Given the description of an element on the screen output the (x, y) to click on. 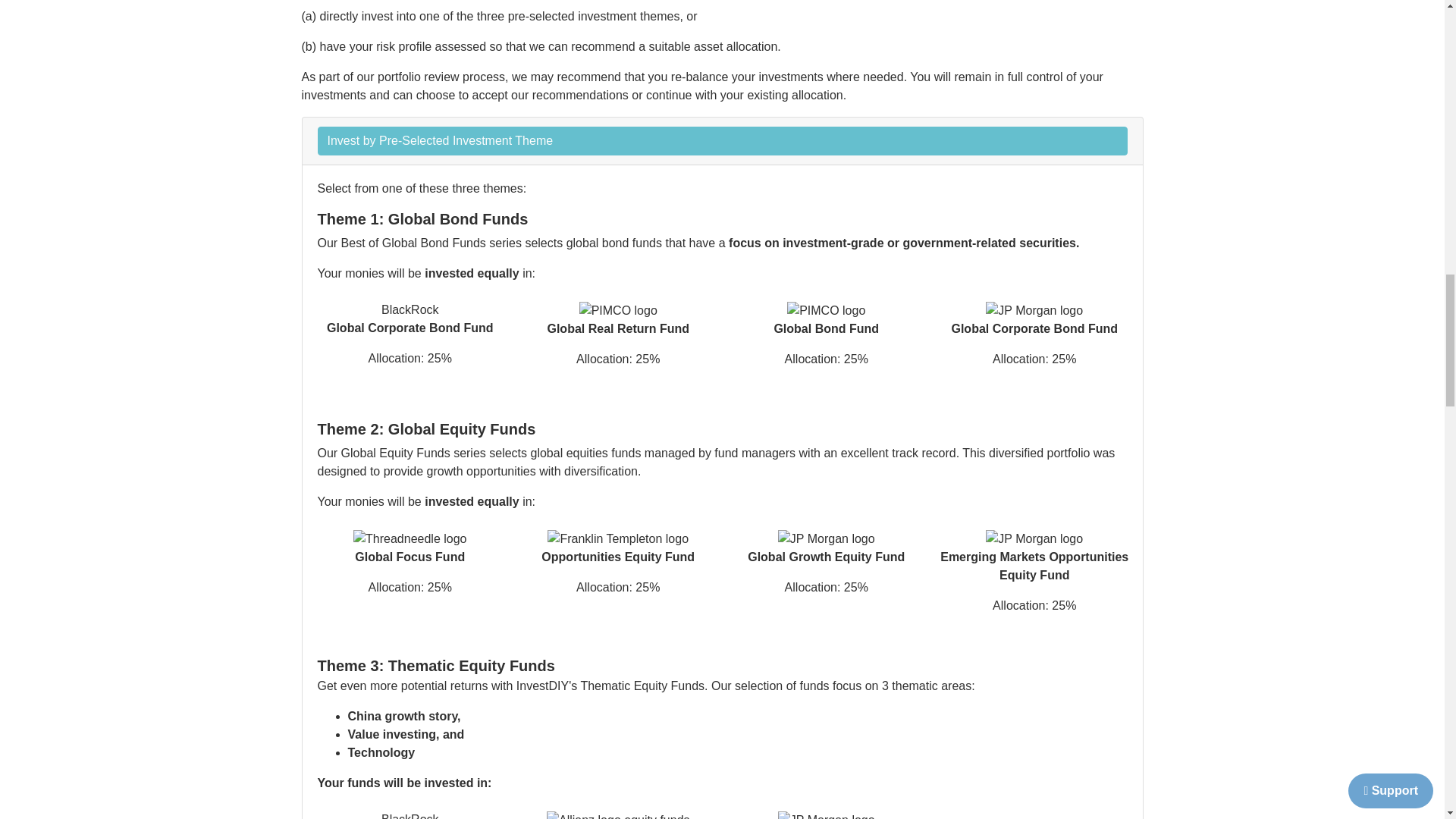
Invest by Pre-Selected Investment Theme (721, 140)
